Given the description of an element on the screen output the (x, y) to click on. 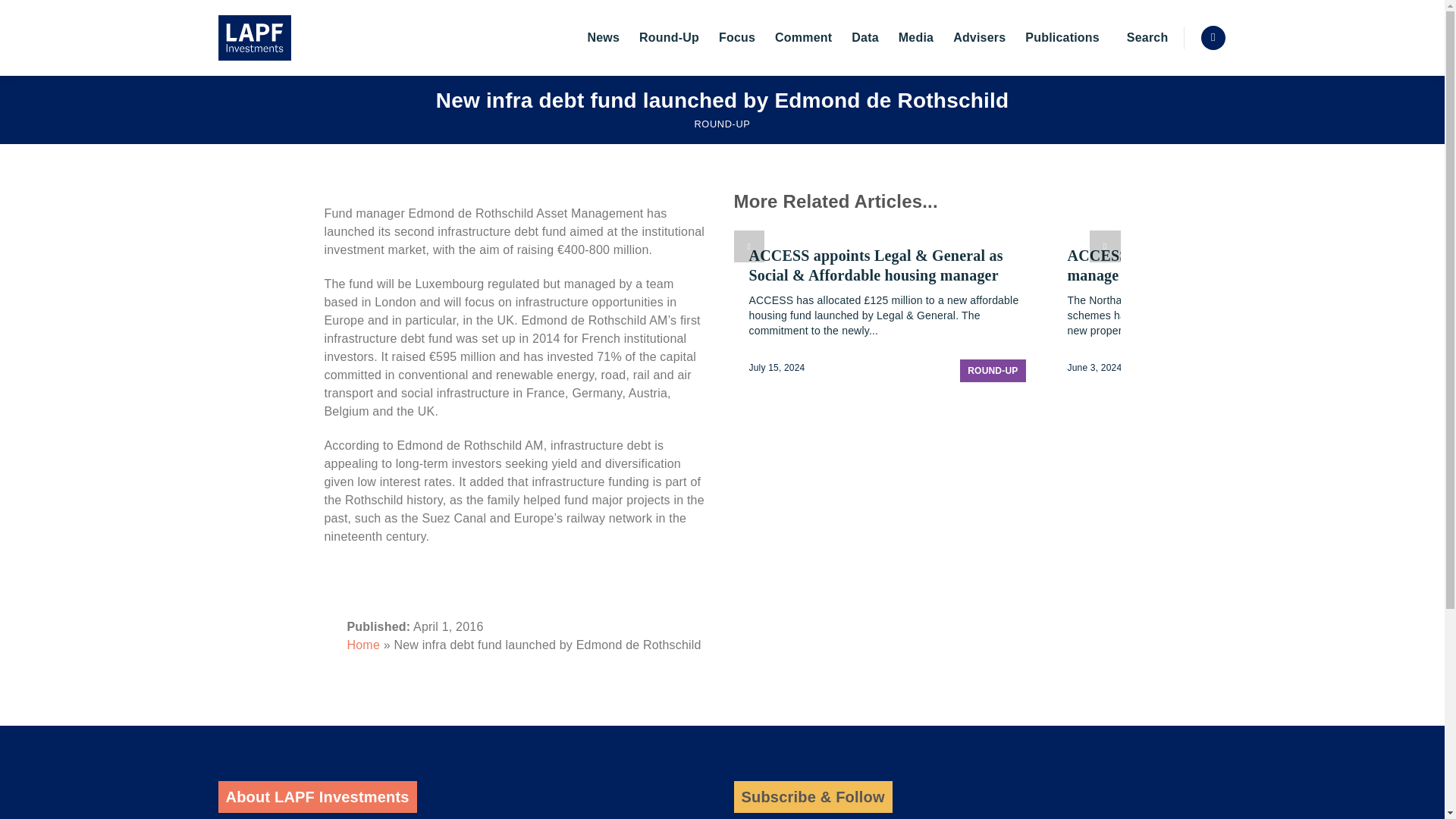
Publications (1062, 37)
Data (864, 37)
Round-Up (668, 37)
Media (915, 37)
Advisers (979, 37)
Focus (737, 37)
Comment (802, 37)
Search (1144, 37)
LAPF Investments (293, 38)
News (603, 37)
